Given the description of an element on the screen output the (x, y) to click on. 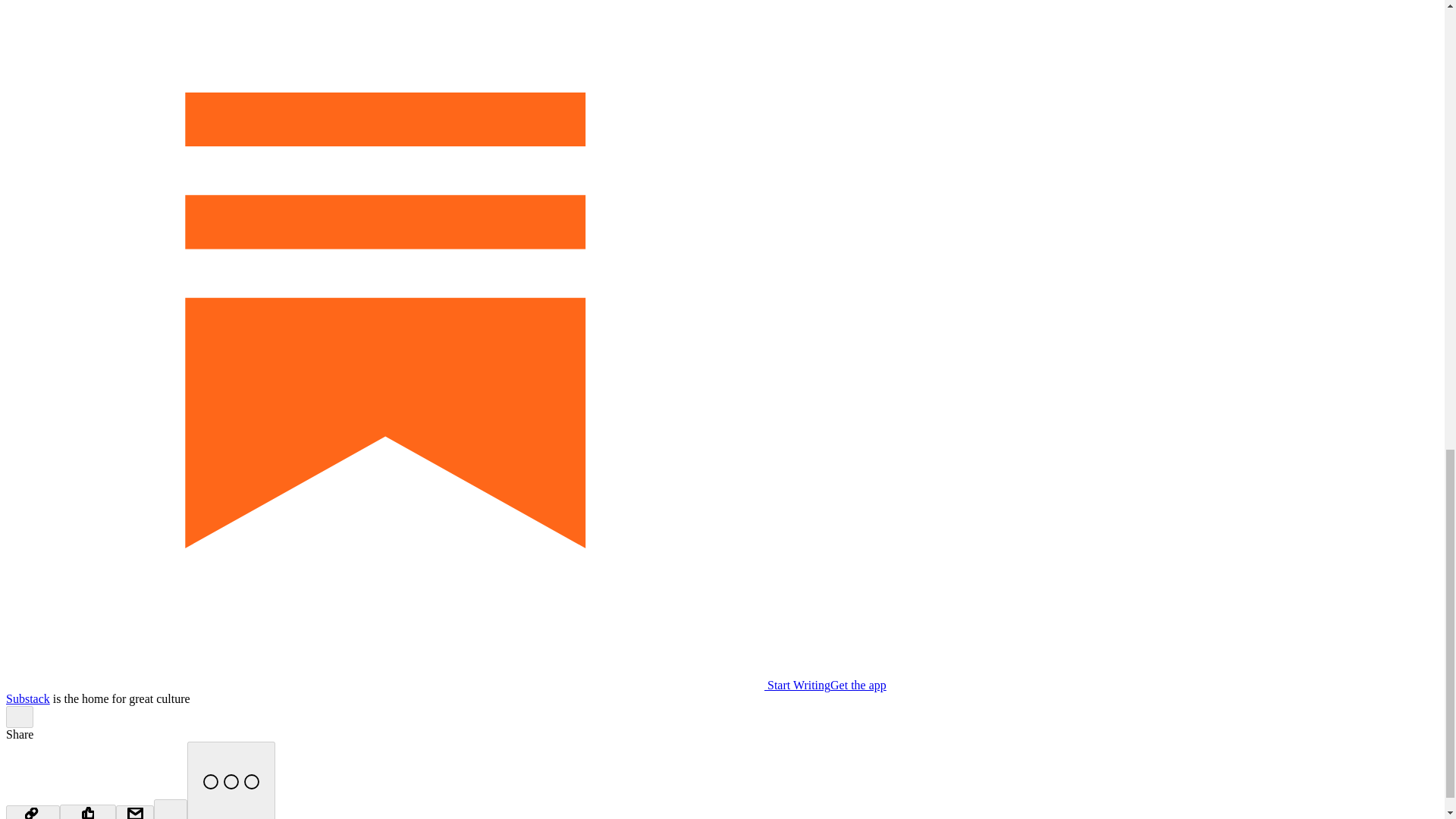
Substack (27, 698)
Get the app (857, 684)
Start Writing (417, 684)
